Given the description of an element on the screen output the (x, y) to click on. 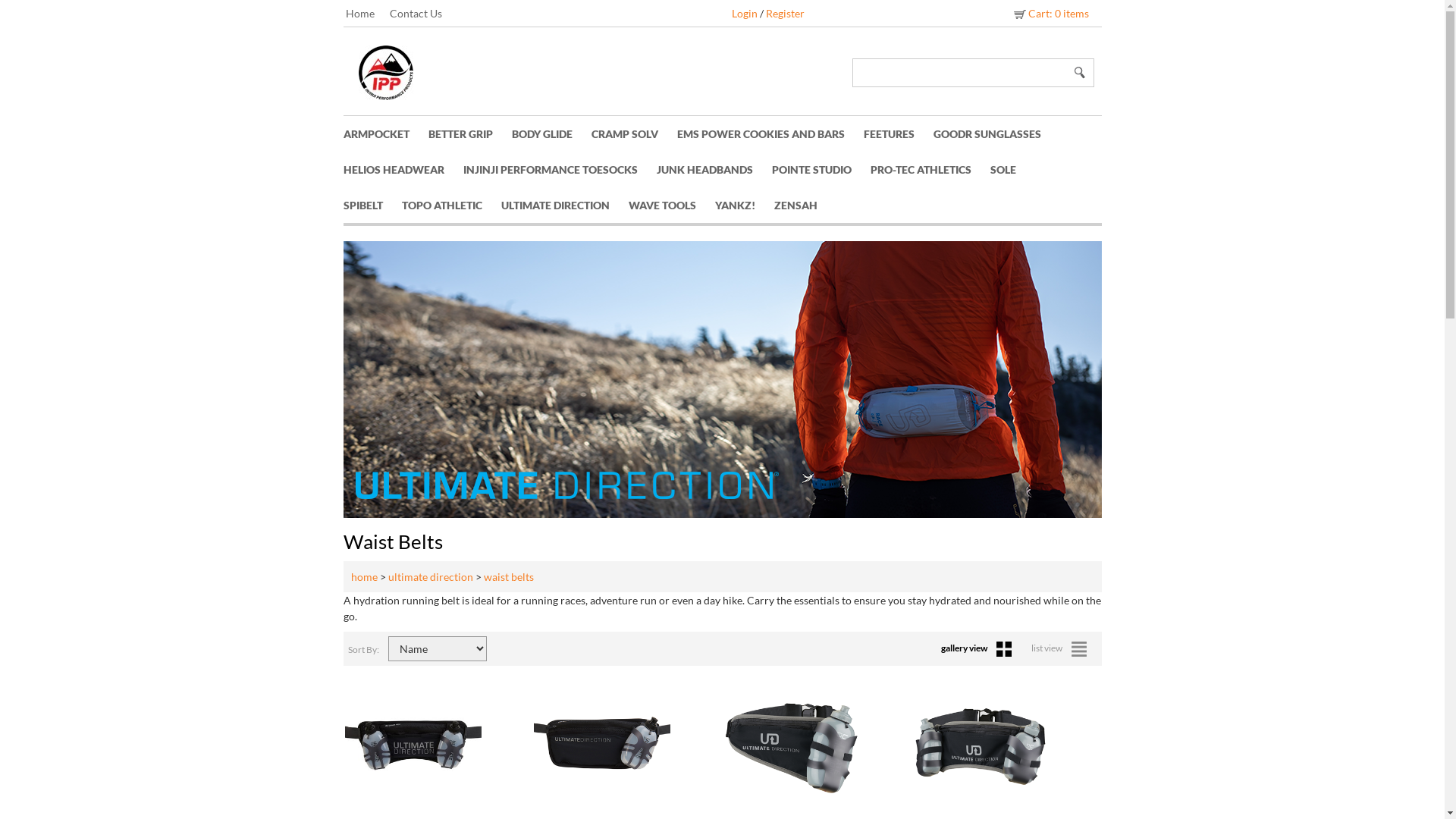
Home Element type: text (367, 12)
BETTER GRIP Element type: text (469, 133)
home Element type: text (363, 576)
Search Products... Element type: hover (960, 72)
ULTIMATE DIRECTION Element type: text (563, 204)
YANKZ! Element type: text (743, 204)
Register Element type: text (784, 12)
WAVE TOOLS Element type: text (670, 204)
ZENSAH Element type: text (804, 204)
TOPO ATHLETIC Element type: text (451, 204)
waist belts Element type: text (508, 576)
FEETURES Element type: text (897, 133)
CRAMP SOLV Element type: text (634, 133)
GOODR SUNGLASSES Element type: text (995, 133)
EMS POWER COOKIES AND BARS Element type: text (769, 133)
INJINJI PERFORMANCE TOESOCKS Element type: text (558, 169)
gallery view Element type: text (979, 647)
ultimate direction Element type: text (430, 576)
list view Element type: text (1062, 647)
Cart: 0 items Element type: text (1049, 12)
JUNK HEADBANDS Element type: text (713, 169)
Contact Us Element type: text (423, 12)
BODY GLIDE Element type: text (550, 133)
Login Element type: text (744, 12)
SPIBELT Element type: text (371, 204)
HELIOS HEADWEAR Element type: text (402, 169)
SOLE Element type: text (1012, 169)
ARMPOCKET Element type: text (384, 133)
POINTE STUDIO Element type: text (820, 169)
PRO-TEC ATHLETICS Element type: text (930, 169)
